Given the description of an element on the screen output the (x, y) to click on. 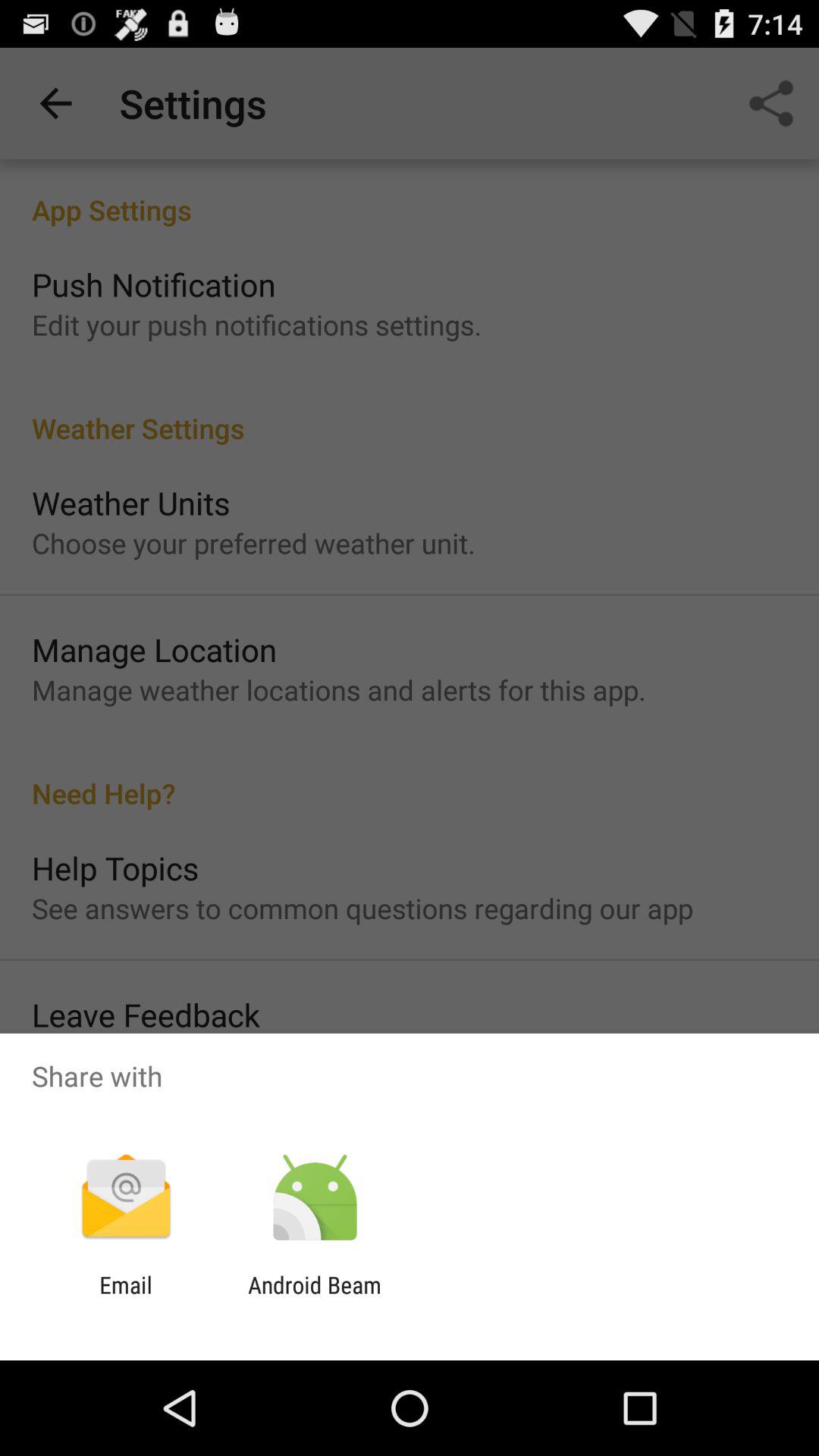
swipe until email (125, 1298)
